Given the description of an element on the screen output the (x, y) to click on. 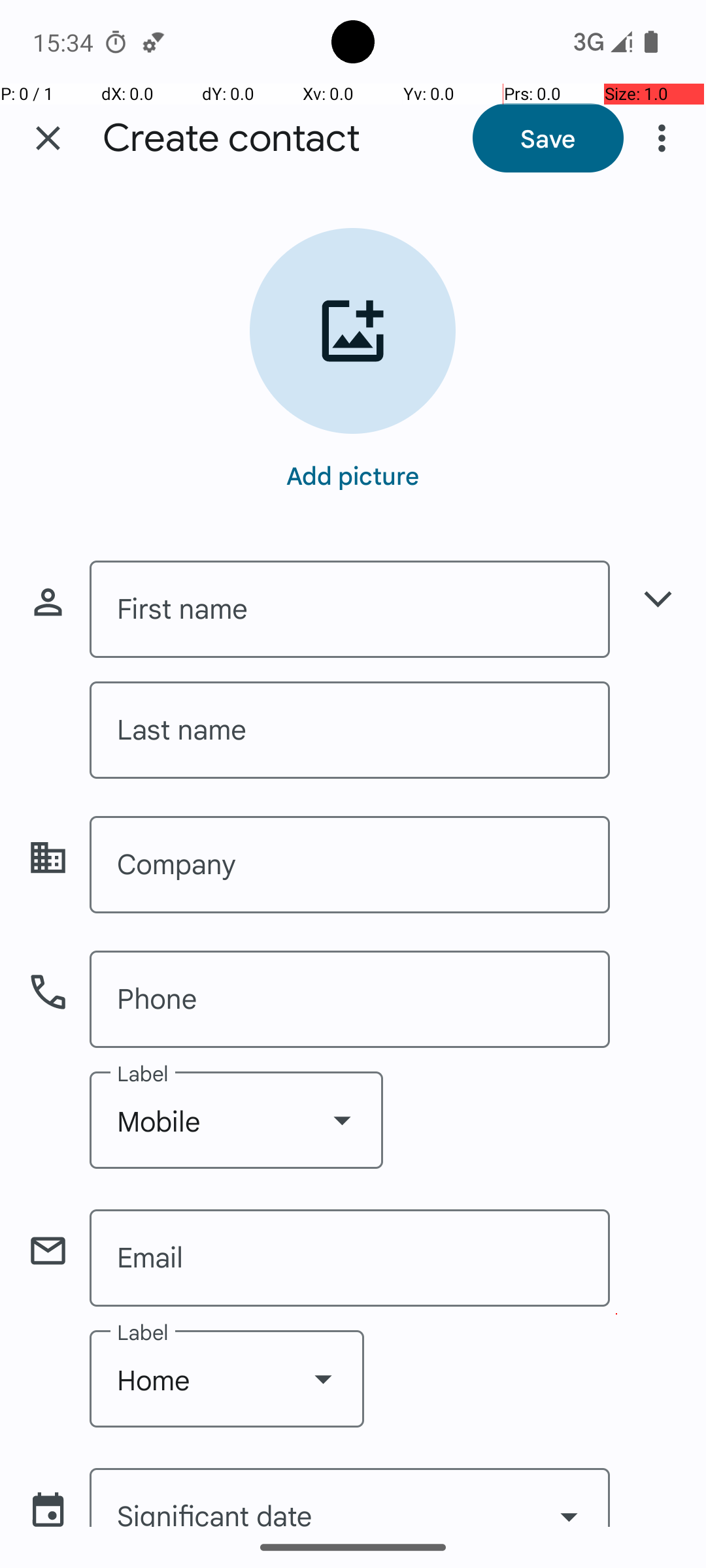
Add picture Element type: android.widget.Button (352, 474)
Significant date Element type: android.widget.EditText (349, 1497)
Show date picker Element type: android.widget.ImageButton (568, 1500)
Android System notification: Wi‑Fi will turn on automatically Element type: android.widget.ImageView (153, 41)
